Given the description of an element on the screen output the (x, y) to click on. 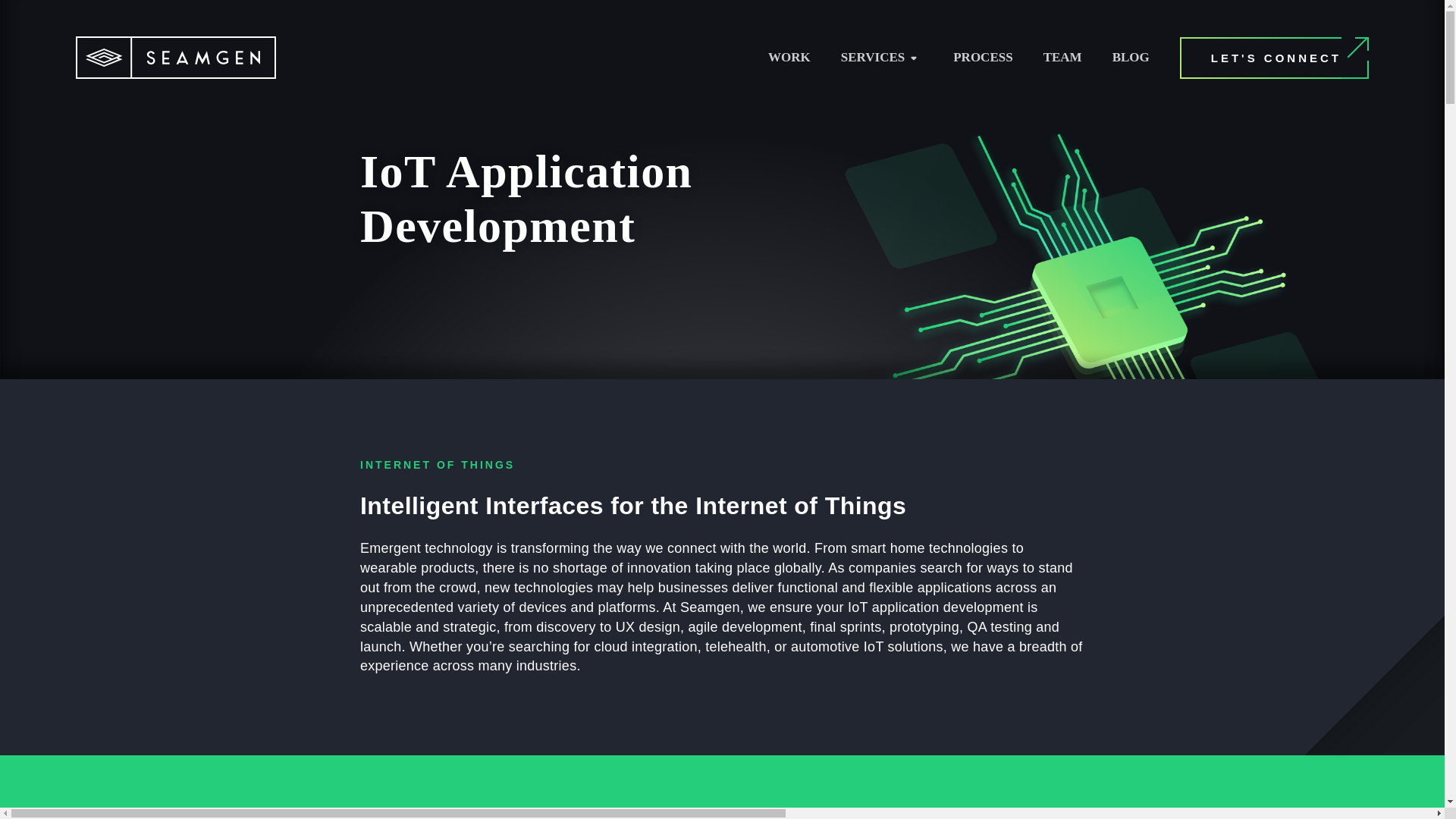
SERVICES (872, 57)
WORK (789, 57)
LET'S CONNECT (1273, 56)
PROCESS (982, 57)
BLOG (1131, 57)
seamgen-white (175, 57)
TEAM (1062, 57)
